Given the description of an element on the screen output the (x, y) to click on. 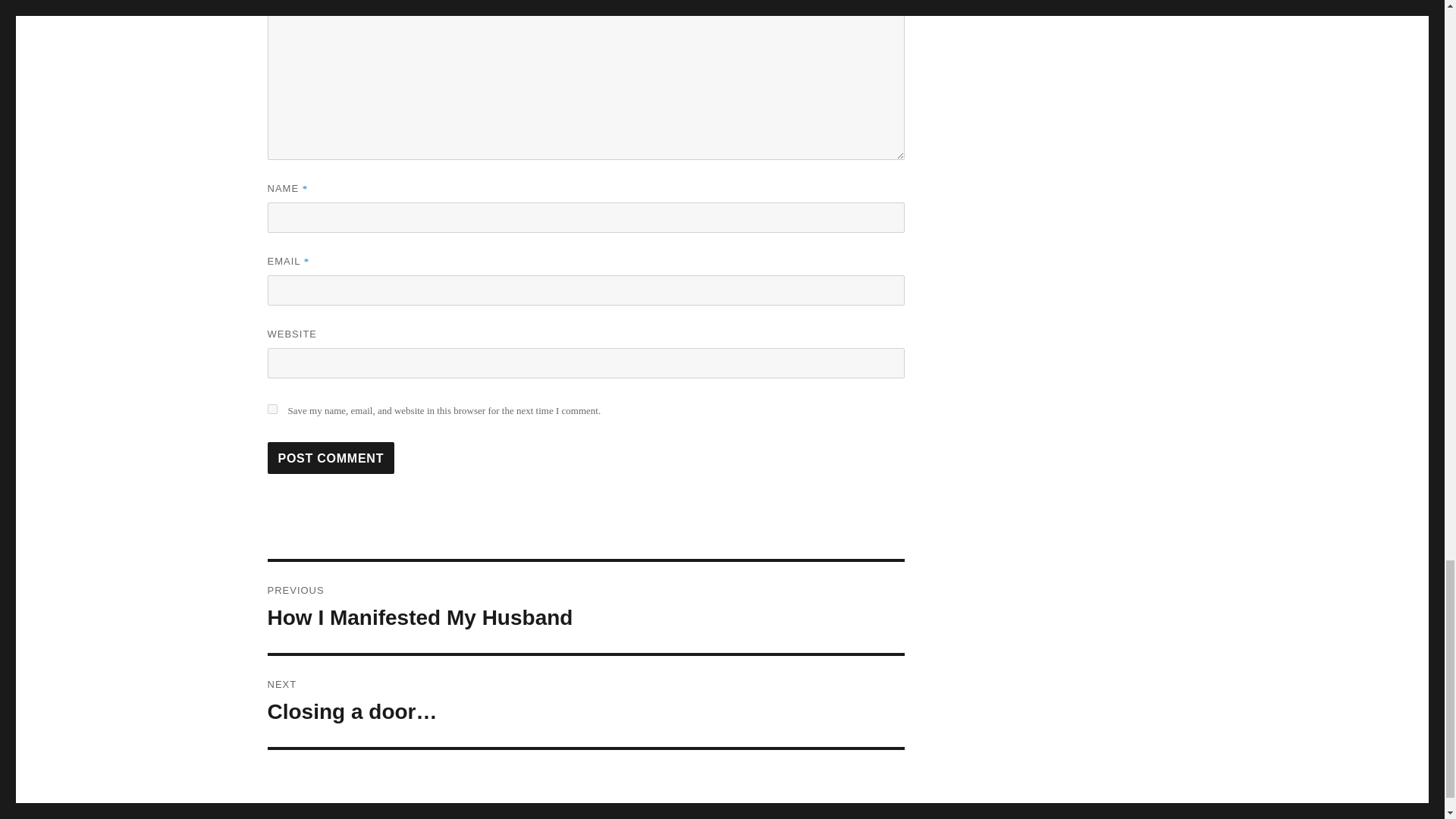
Post Comment (330, 458)
yes (585, 606)
Post Comment (271, 409)
